Given the description of an element on the screen output the (x, y) to click on. 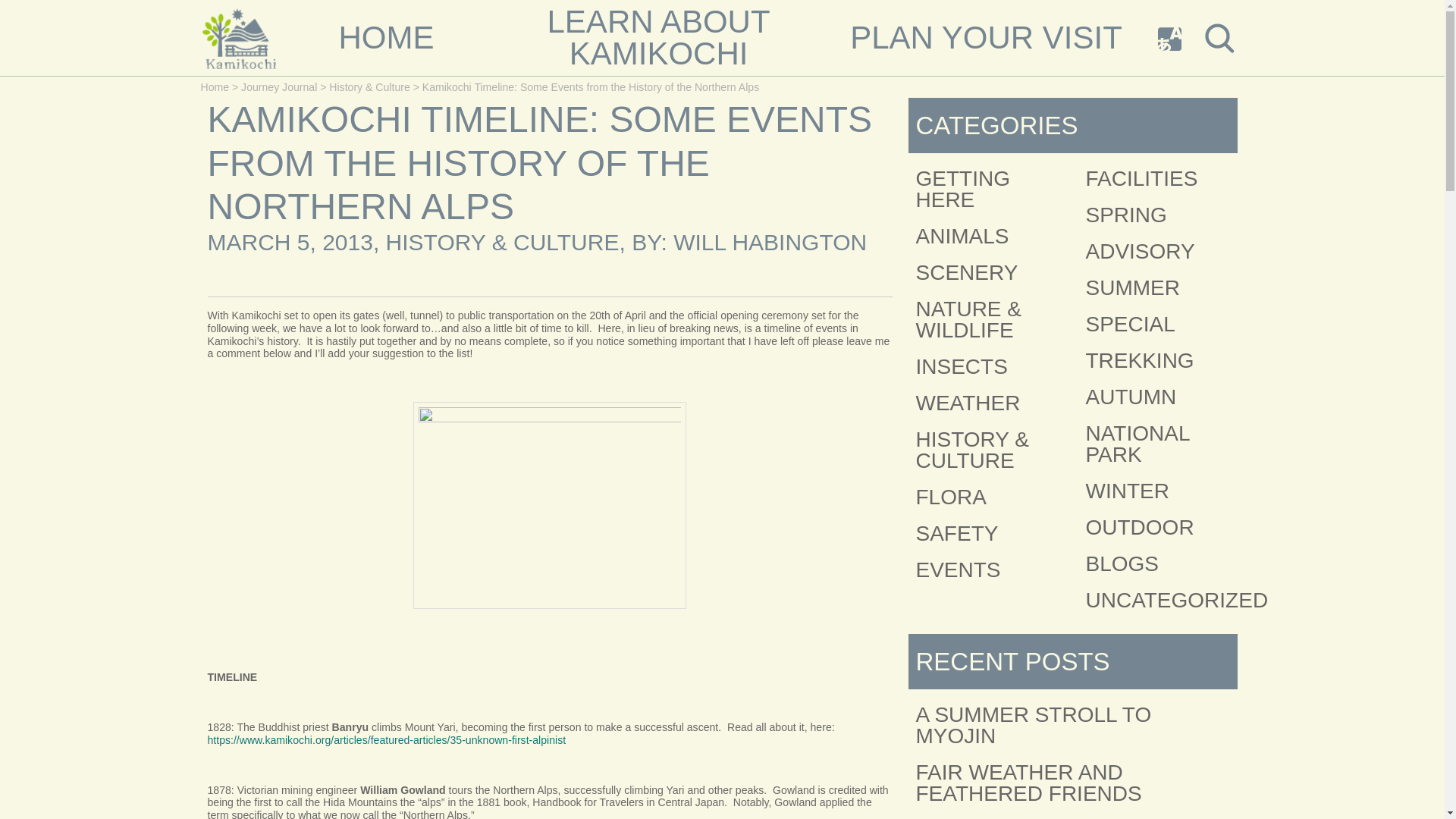
Posts by will habington (769, 242)
Journey Journal (279, 87)
Home (214, 87)
PLAN YOUR VISIT (986, 38)
WILL HABINGTON (1139, 360)
LEARN ABOUT KAMIKOCHI (769, 242)
HOME (658, 38)
Go to Journey Journal. (385, 38)
Go to the home. (279, 87)
